Given the description of an element on the screen output the (x, y) to click on. 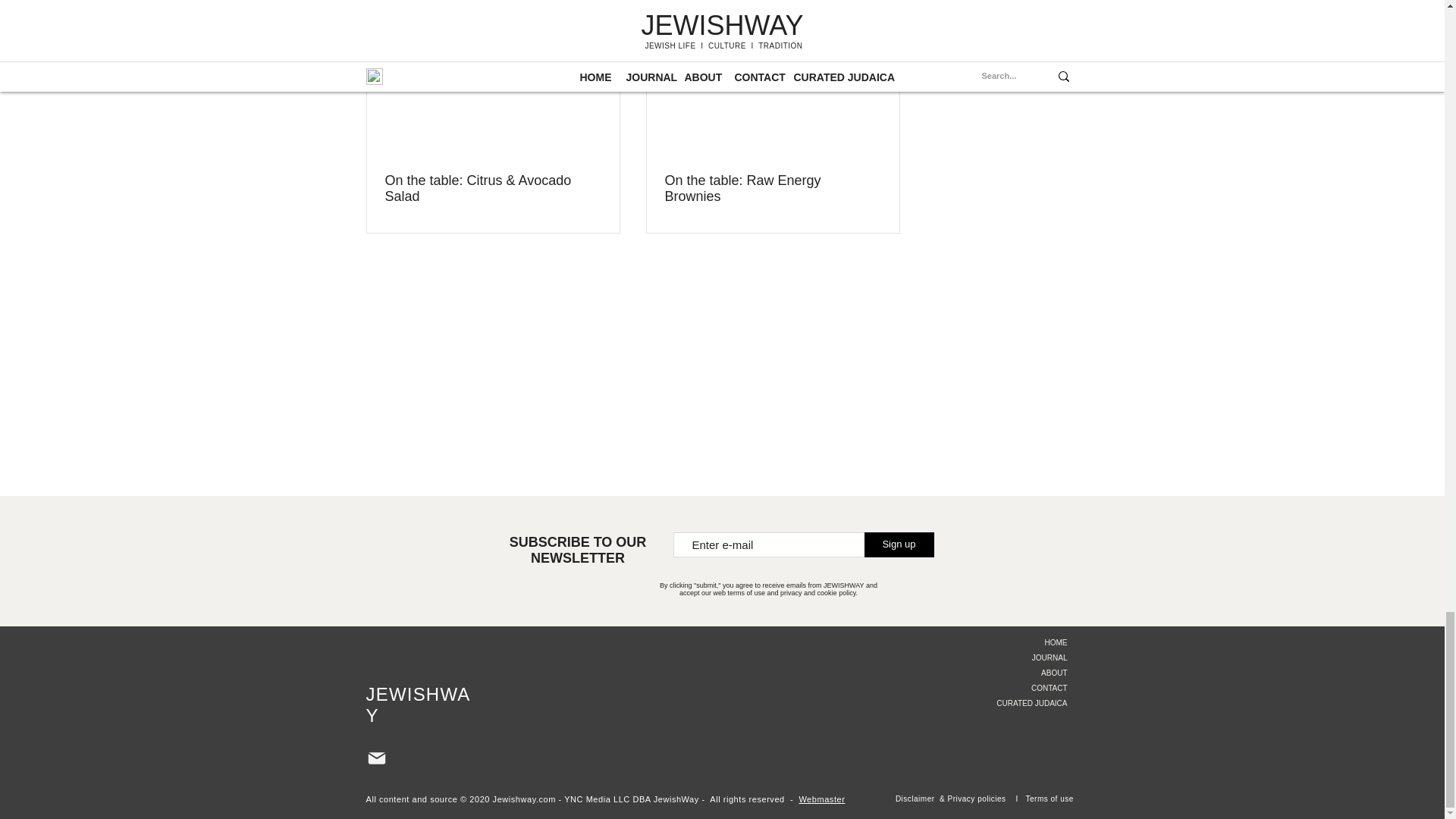
On the table: Raw Energy Brownies (771, 188)
